Given the description of an element on the screen output the (x, y) to click on. 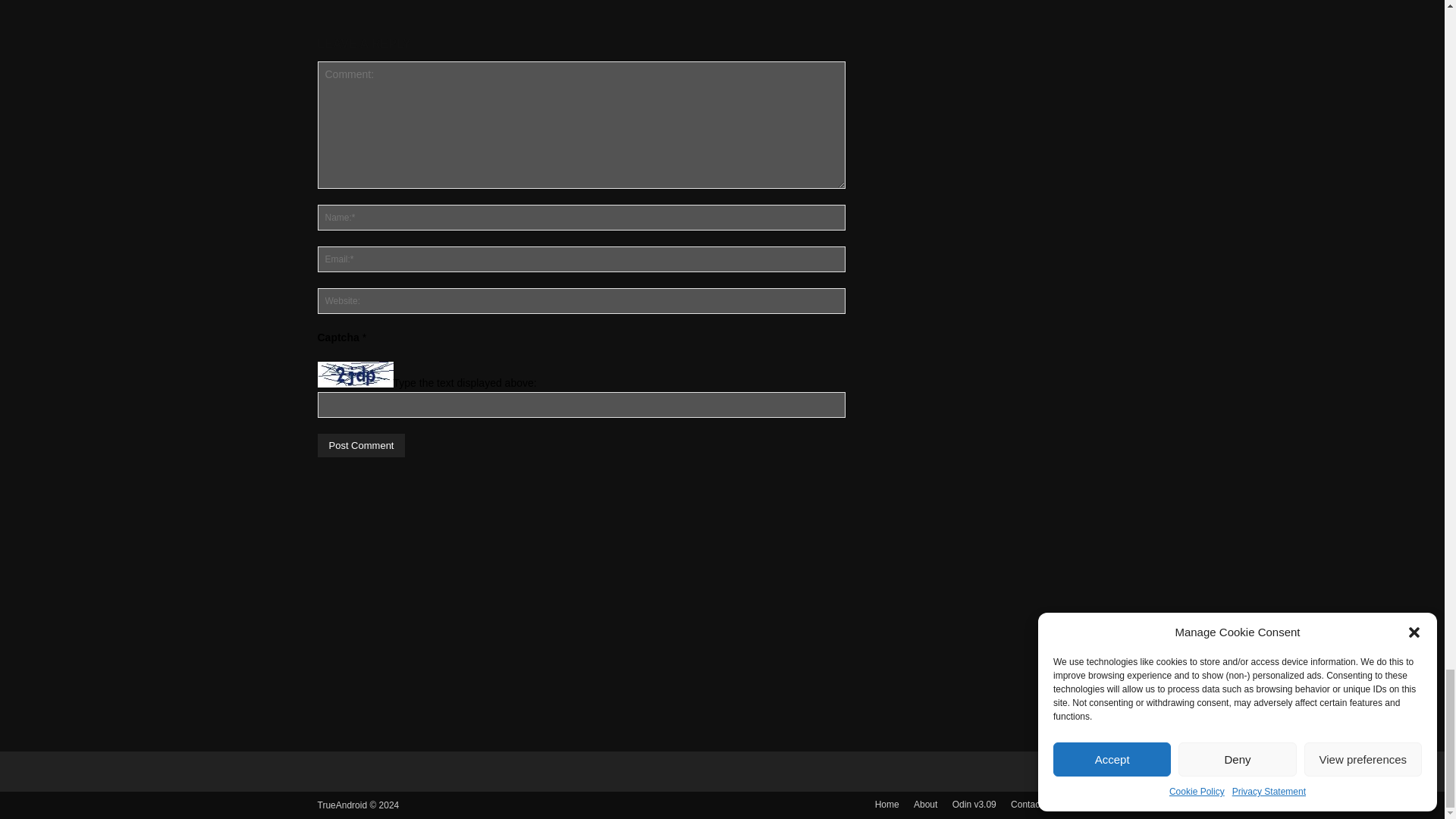
Post Comment (360, 445)
